Given the description of an element on the screen output the (x, y) to click on. 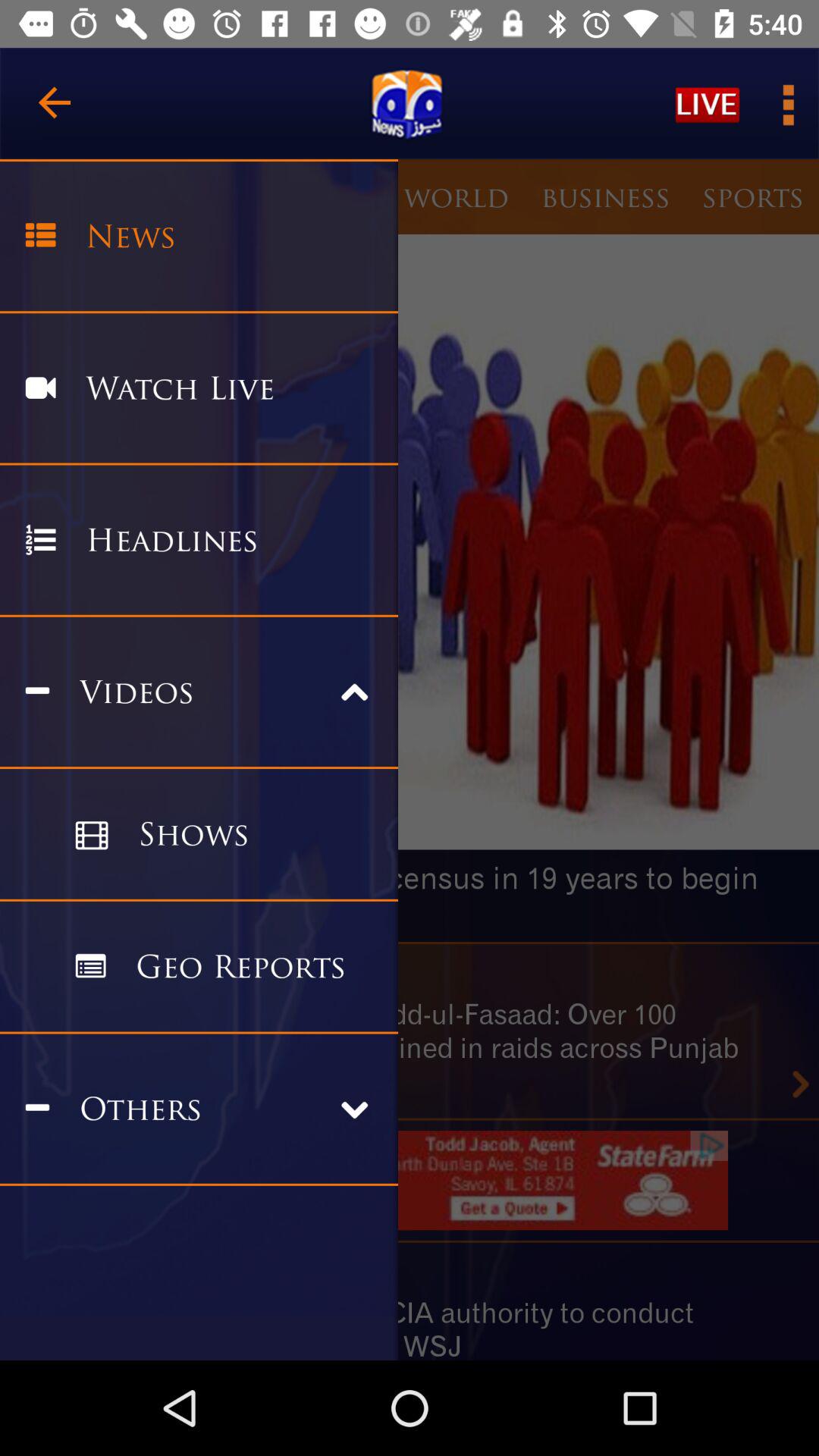
select the right scroll which is on the black background (800, 1084)
select the live (707, 103)
select the world (456, 196)
